Given the description of an element on the screen output the (x, y) to click on. 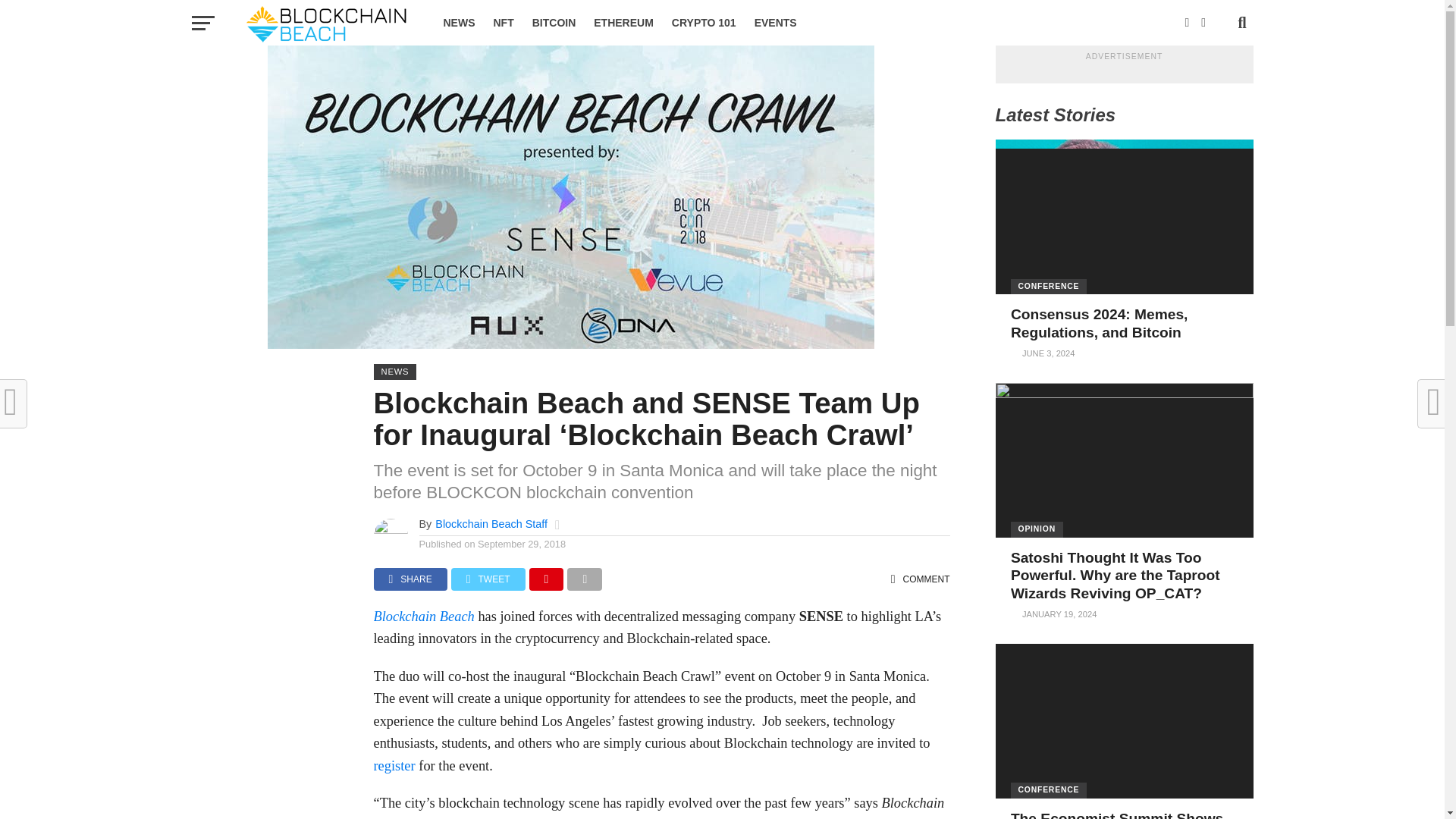
Blockchain Beach Staff (491, 523)
NEWS (458, 22)
Posts by Blockchain Beach Staff (491, 523)
BITCOIN (553, 22)
EVENTS (775, 22)
Blockchain Beach (423, 616)
CRYPTO 101 (703, 22)
register (393, 765)
ETHEREUM (623, 22)
